Given the description of an element on the screen output the (x, y) to click on. 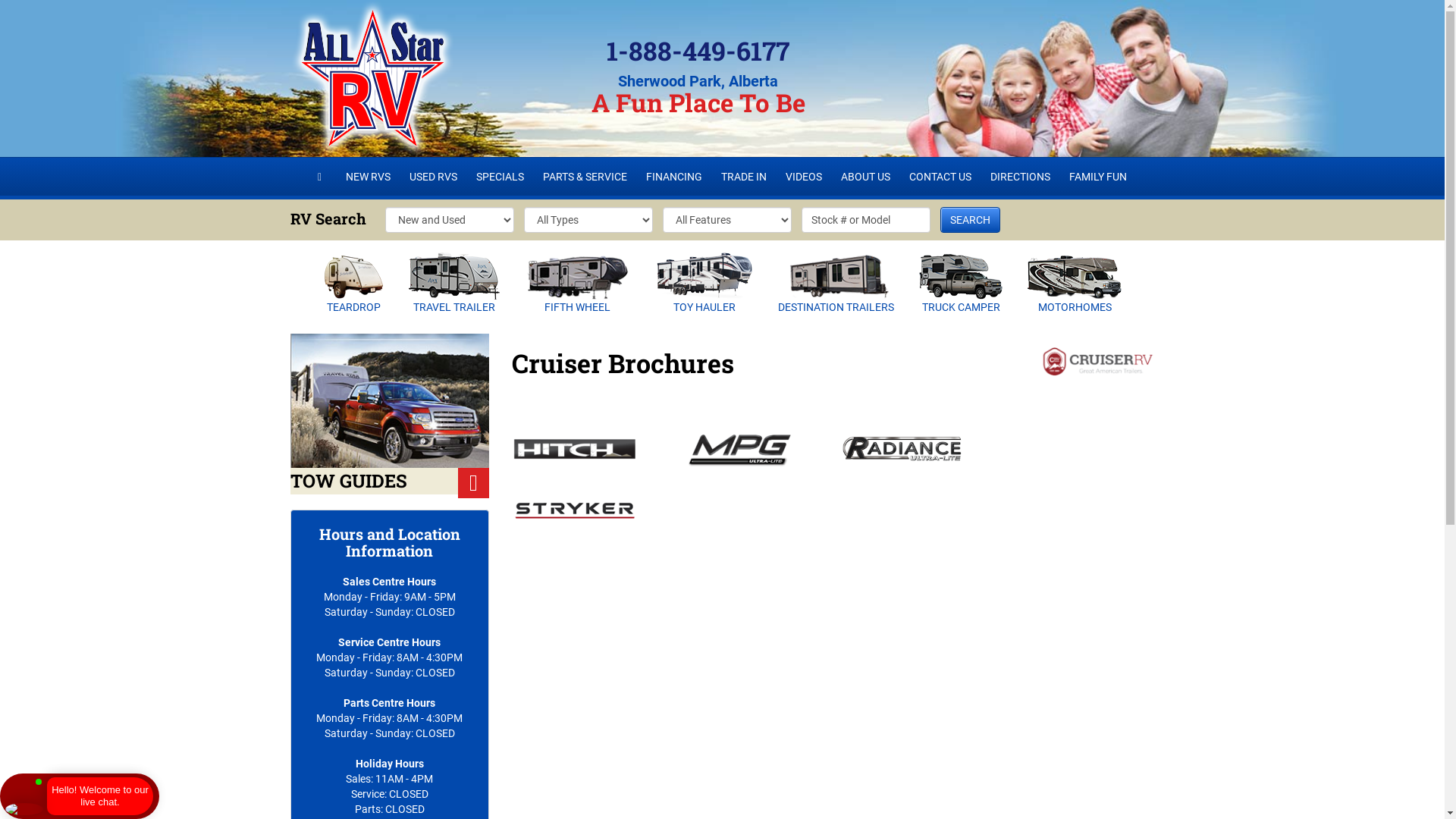
FINANCING Element type: text (673, 176)
PARTS & SERVICE Element type: text (584, 176)
TRUCK CAMPER Element type: text (960, 291)
SEARCH Element type: text (970, 219)
TRAVEL TRAILER Element type: text (453, 291)
Hello! Welcome to our live chat. Element type: text (99, 796)
DESTINATION TRAILERS Element type: text (836, 291)
DIRECTIONS Element type: text (1020, 176)
MOTORHOMES Element type: text (1074, 291)
CONTACT US Element type: text (939, 176)
TEARDROP Element type: text (353, 291)
  Element type: text (322, 176)
TOY HAULER Element type: text (704, 290)
USED RVS Element type: text (433, 176)
VIDEOS Element type: text (803, 176)
ABOUT US Element type: text (865, 176)
1-888-449-6177 Element type: text (697, 50)
FIFTH WHEEL Element type: text (577, 291)
FAMILY FUN Element type: text (1097, 176)
NEW RVS Element type: text (367, 176)
TRADE IN Element type: text (743, 176)
SPECIALS Element type: text (499, 176)
TOW GUIDES
  Element type: text (389, 413)
